Given the description of an element on the screen output the (x, y) to click on. 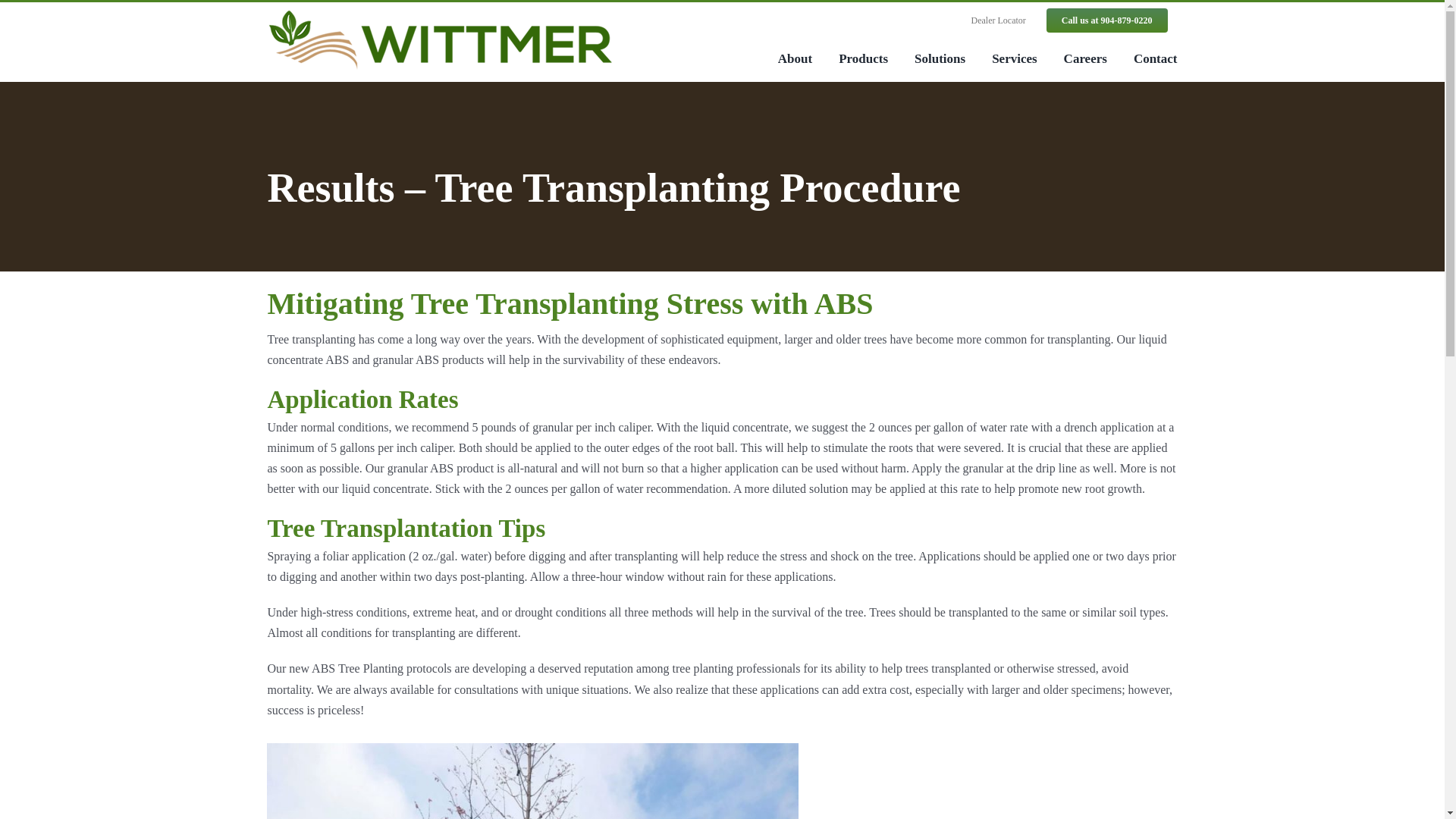
Careers (1085, 57)
Call us at 904-879-0220 (1106, 20)
Dealer Locator (997, 20)
Solutions (939, 57)
Contact (1155, 57)
Products (863, 57)
About (794, 57)
Services (1013, 57)
